Given the description of an element on the screen output the (x, y) to click on. 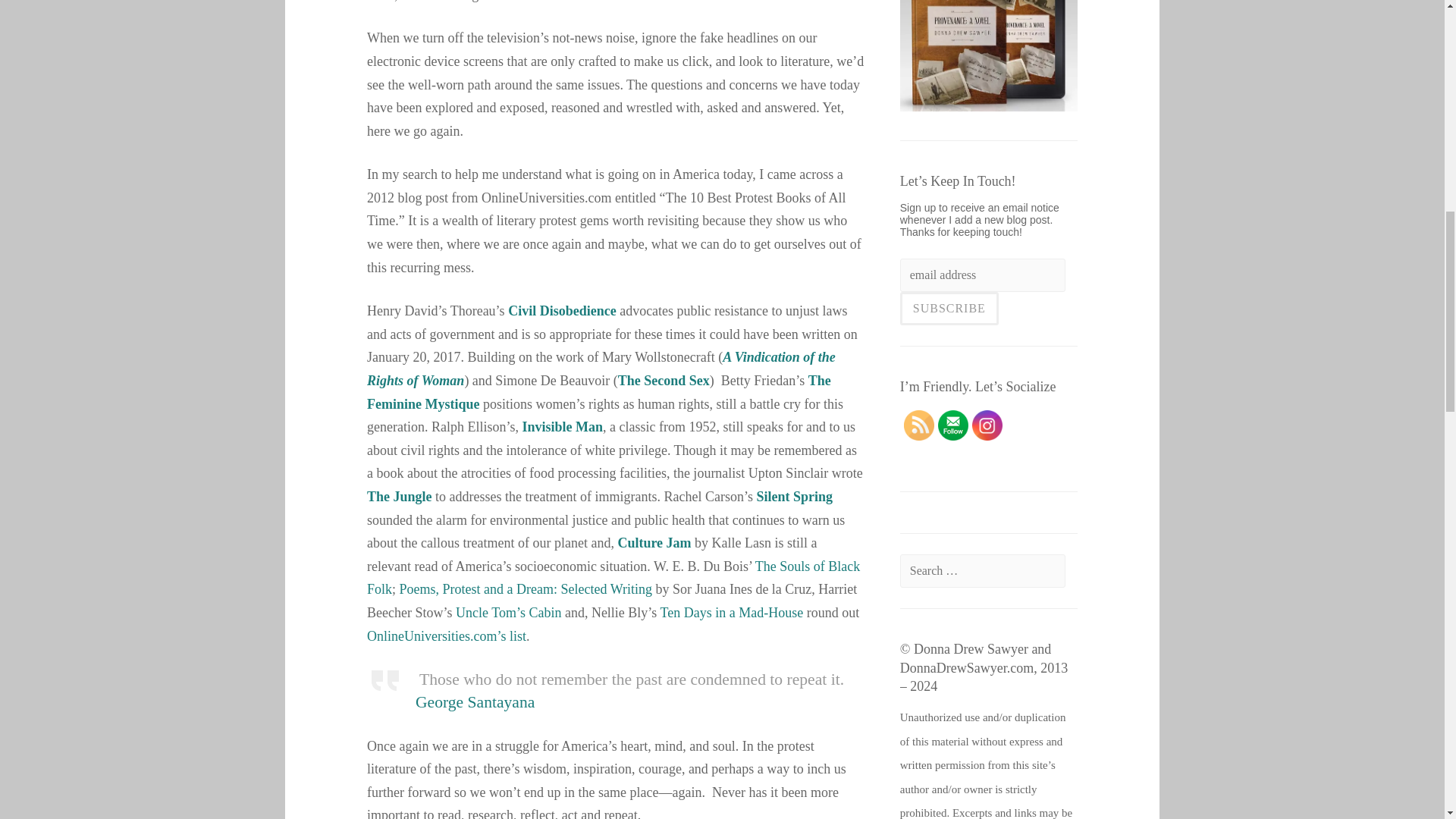
Culture Jam (653, 542)
The Jungle (399, 496)
Subscribe (948, 308)
Silent Spring (793, 496)
Invisible Man (561, 426)
A Vindication of the Rights of Woman (600, 368)
Ten Days in a Mad-House (732, 612)
George Santayana (474, 701)
EMAIL (952, 425)
RSS (919, 425)
The Second Sex (663, 380)
Poems, Protest and a Dream: Selected Writing (525, 589)
The Souls of Black Folk (613, 577)
Civil Disobedience (561, 310)
The Feminine Mystique (598, 392)
